Given the description of an element on the screen output the (x, y) to click on. 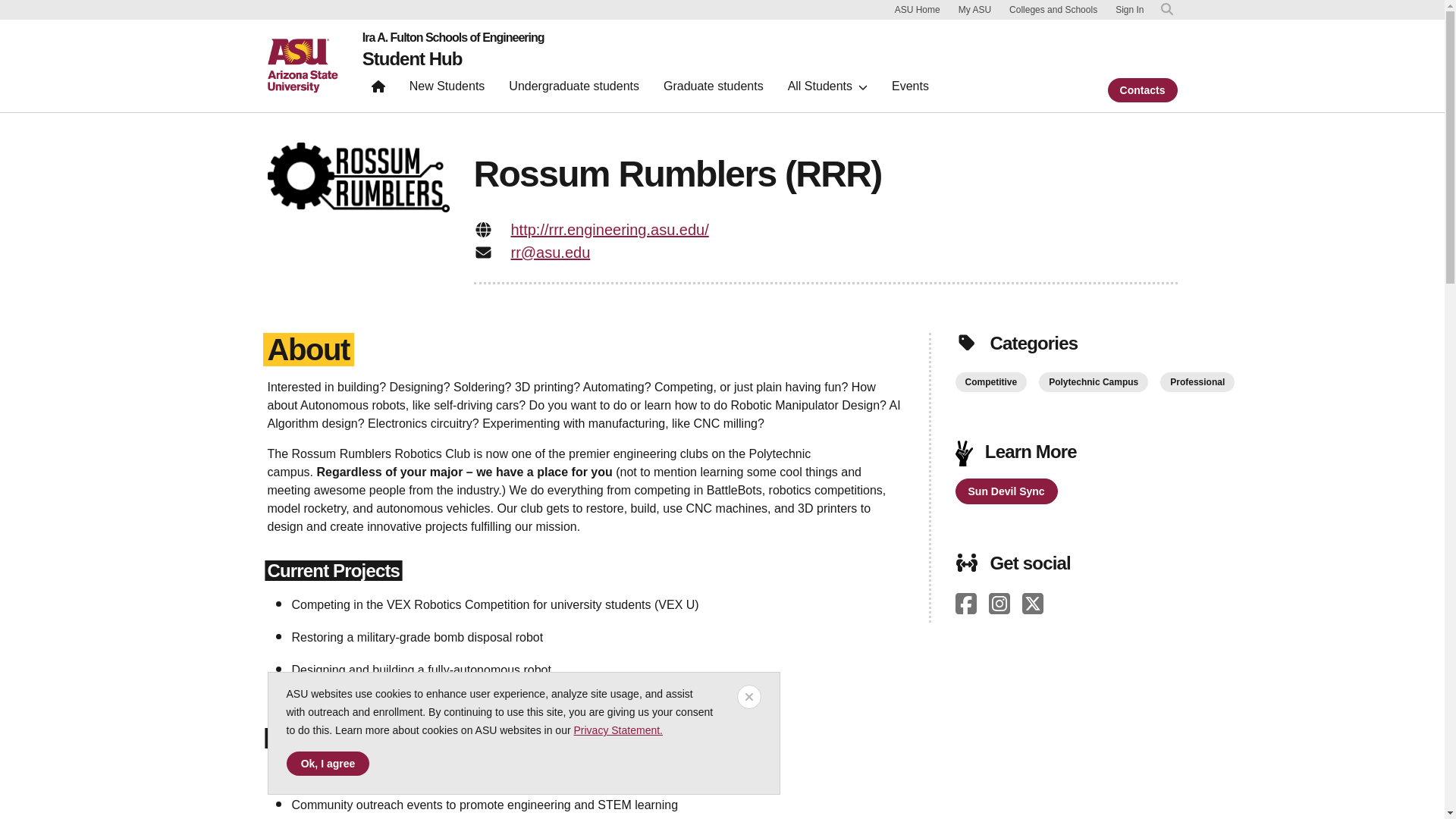
Graduate students (713, 89)
Ira A. Fulton Schools of Engineering (453, 37)
Professional (1197, 382)
Sign In (1128, 9)
Graduate students (713, 89)
Student Hub (412, 58)
Competitive (991, 382)
Email: (482, 251)
Contacts (1142, 88)
Undergraduate students (573, 89)
ASU Home (917, 9)
Polytechnic Campus (1093, 382)
ASU home page (301, 65)
Student Hub home page (412, 58)
All Students (827, 89)
